Given the description of an element on the screen output the (x, y) to click on. 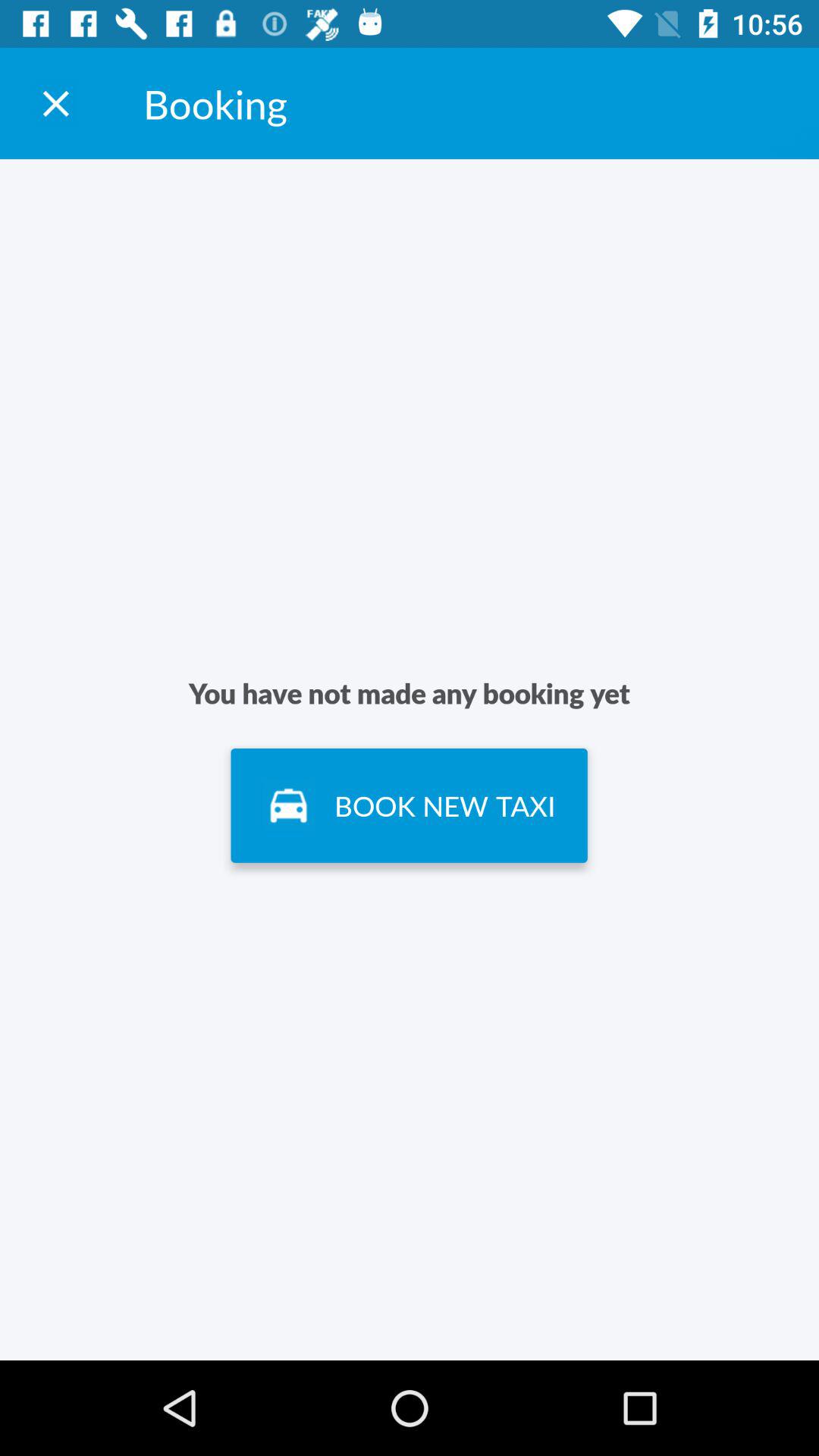
tap the item above the you have not (55, 103)
